Given the description of an element on the screen output the (x, y) to click on. 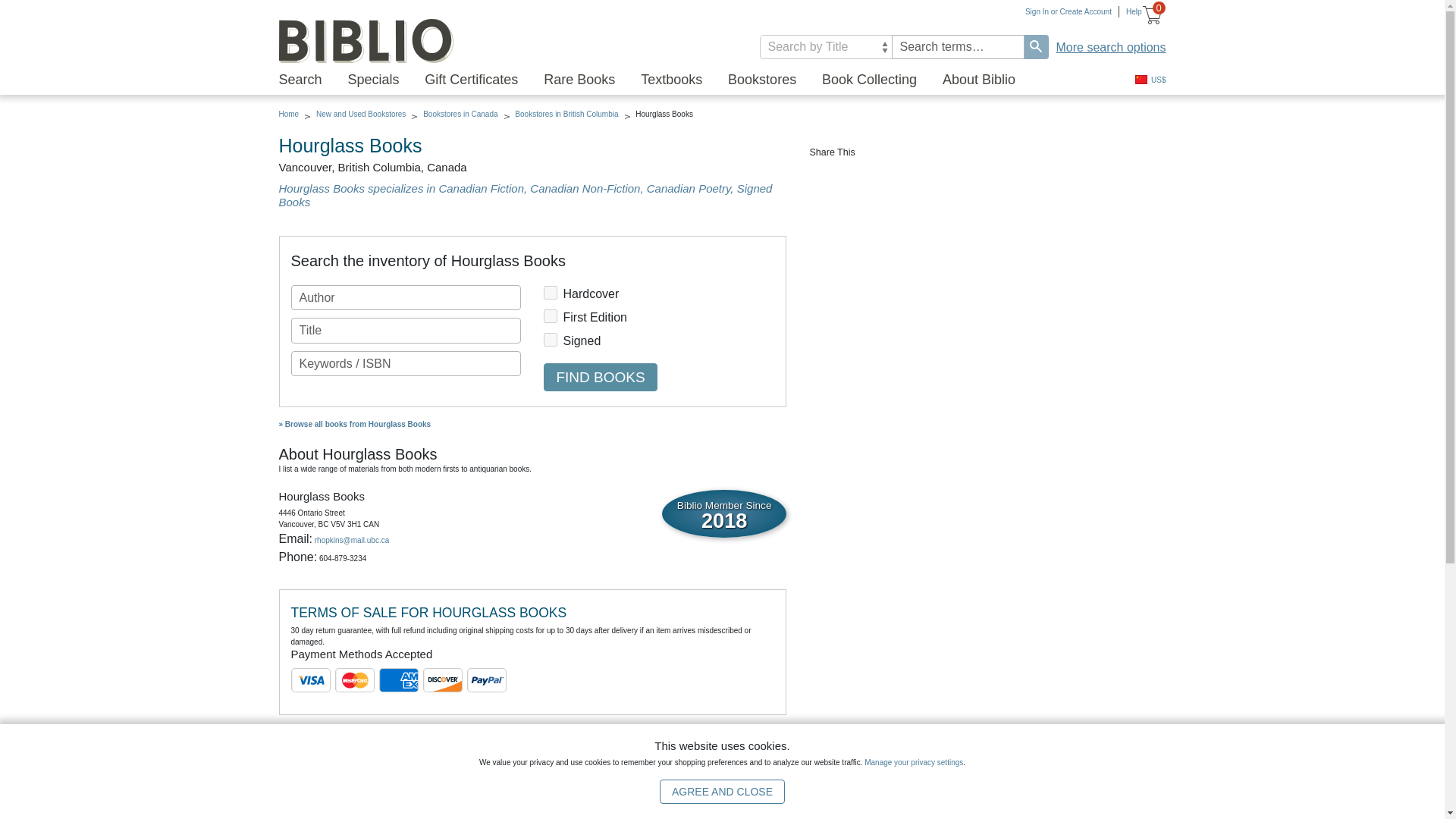
Rare Books (578, 80)
Search (1036, 46)
Need Help? Click here (1129, 11)
Book Collecting (869, 80)
Specials (372, 80)
Search (1036, 46)
About Biblio (978, 80)
0 (1153, 17)
on (550, 339)
